Given the description of an element on the screen output the (x, y) to click on. 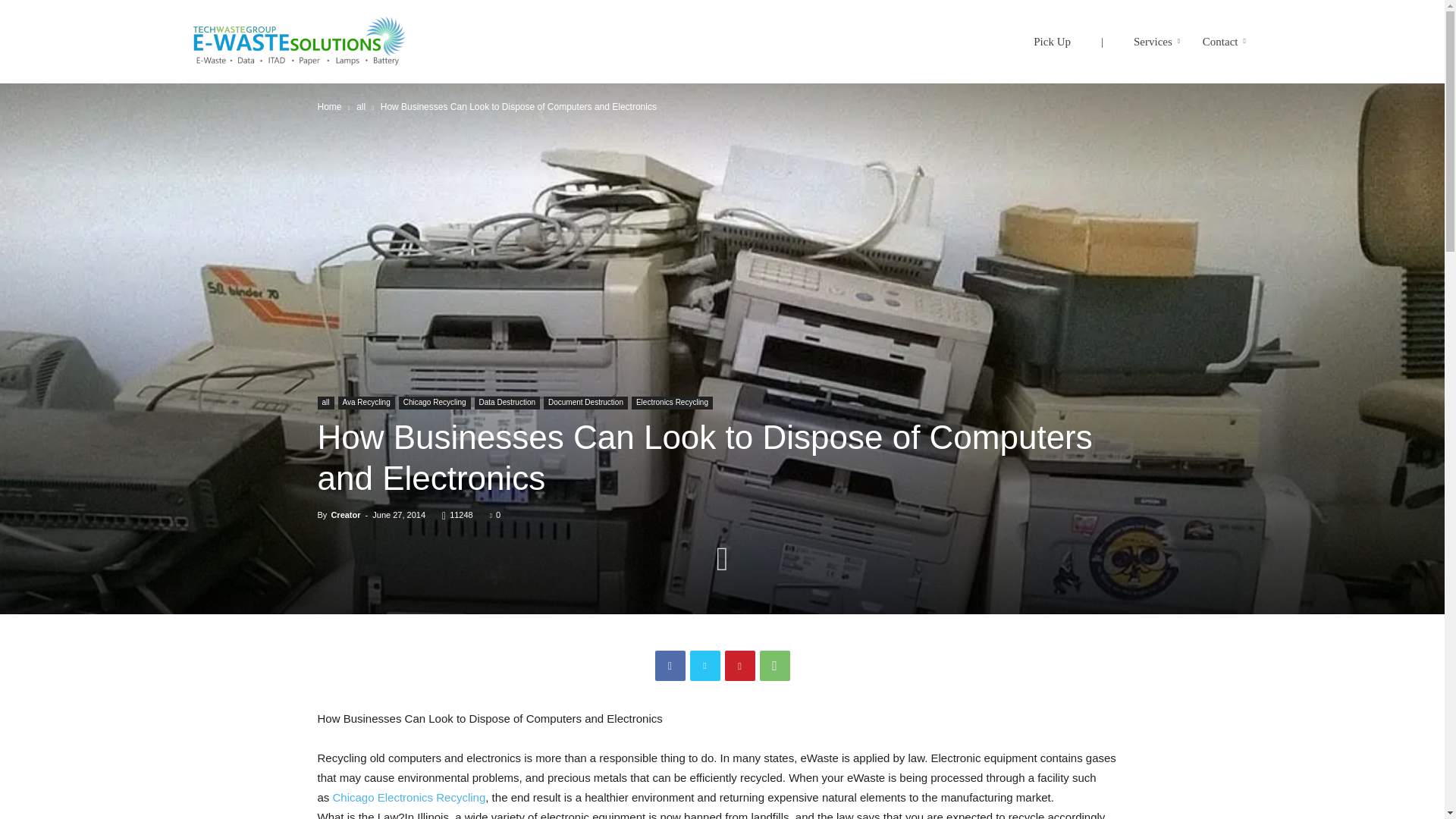
0 (494, 514)
Creator (344, 514)
Facebook (670, 665)
Pinterest (740, 665)
WhatsApp (775, 665)
all (325, 402)
Document Destruction (585, 402)
Ava Recycling (365, 402)
Data Destruction (507, 402)
Twitter (705, 665)
Home (328, 106)
Chicago Electronics Recycling (297, 42)
Chicago Recycling (434, 402)
Electronics Recycling (672, 402)
